Given the description of an element on the screen output the (x, y) to click on. 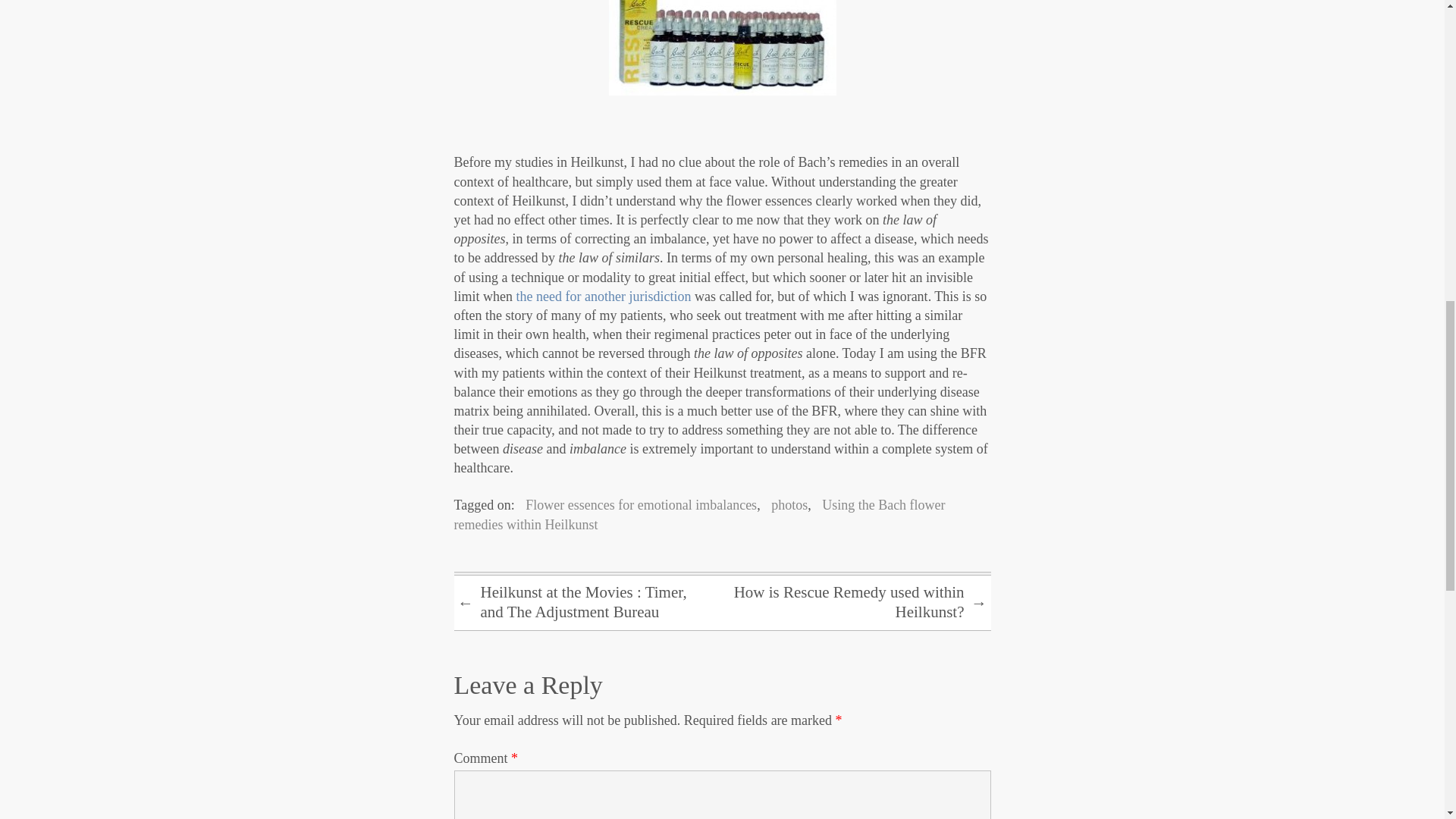
The Three Jurisdictions of Medical Heilkunst (602, 296)
the need for another jurisdiction (602, 296)
